Given the description of an element on the screen output the (x, y) to click on. 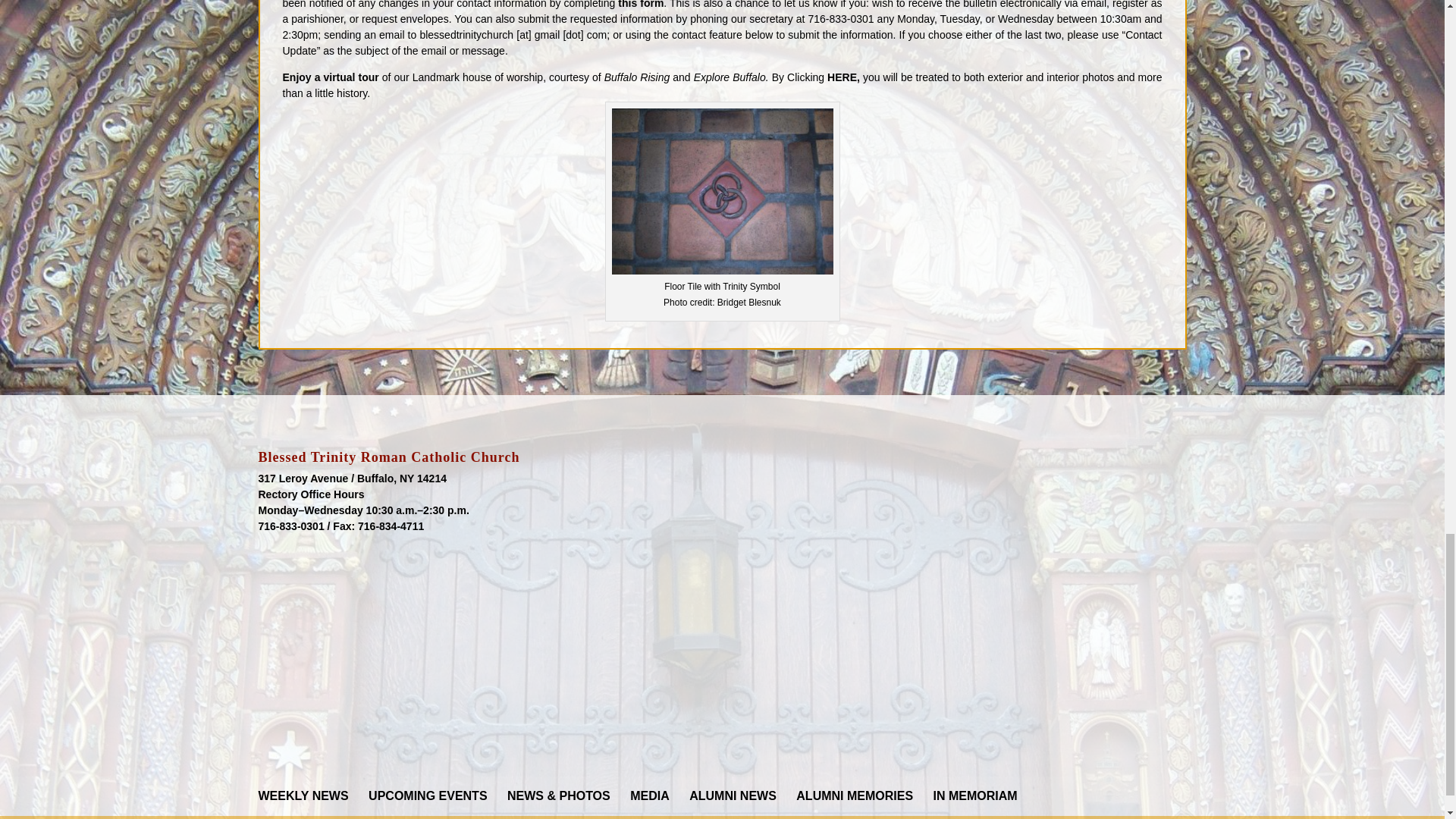
this form (640, 4)
HERE, (843, 77)
